Given the description of an element on the screen output the (x, y) to click on. 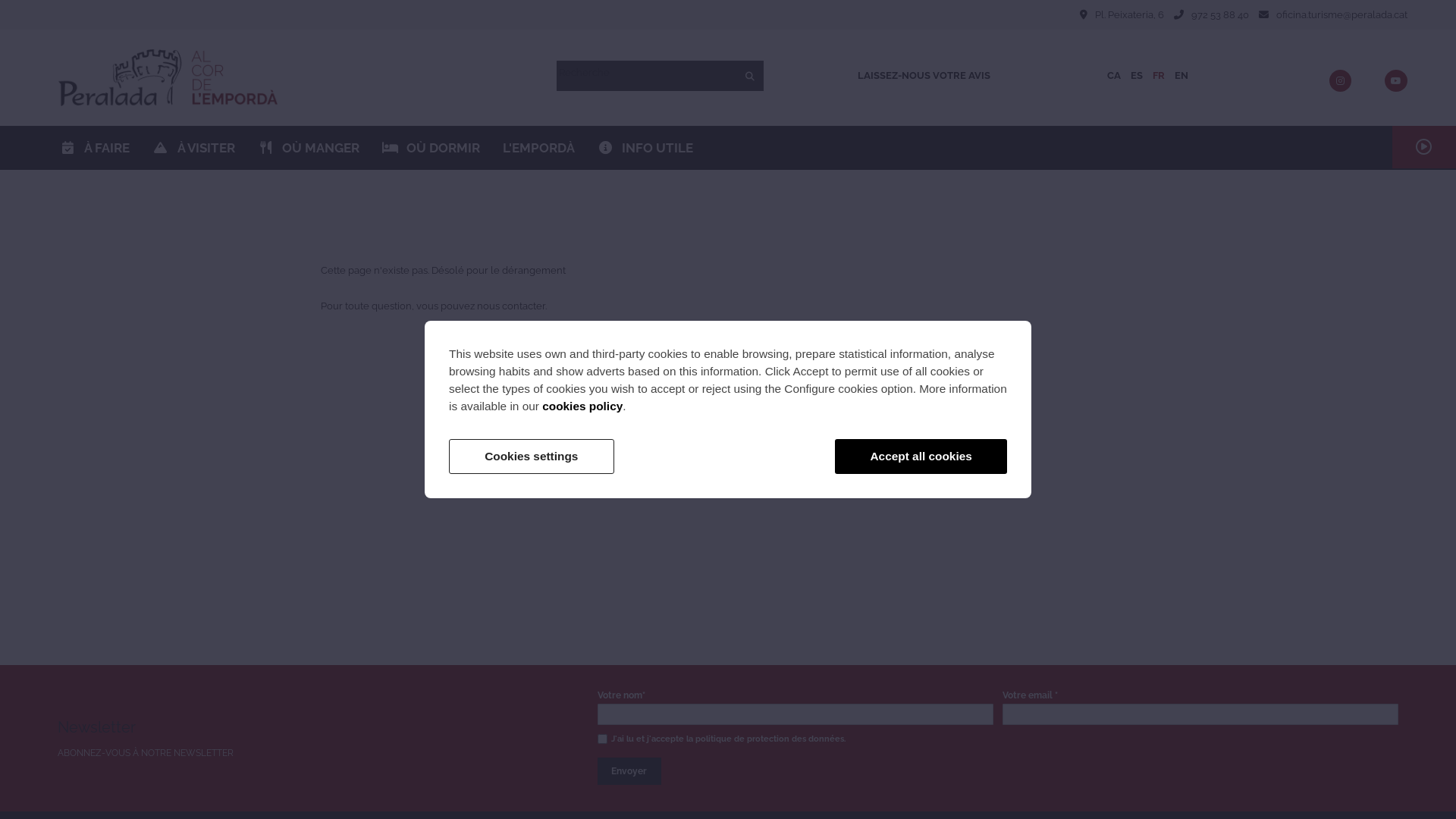
Twitter Ajuntament de Peralada Element type: text (1373, 81)
INFO UTILE Element type: text (645, 147)
LAISSEZ-NOUS VOTRE AVIS Element type: text (923, 75)
Envoyer Element type: text (629, 770)
972 53 88 40 Element type: text (1219, 14)
Ajuntament de Peralada Element type: hover (167, 77)
Accept all cookies Element type: text (920, 456)
CA Element type: text (1113, 75)
Facebook Ajuntament de Peralada Element type: text (1360, 81)
Cookies settings Element type: text (531, 456)
oficina.turisme@peralada.cat Element type: text (1341, 14)
Instagram Ajuntament de Peralada Element type: text (1340, 81)
Youtube Ajuntament de Peralada Element type: text (1395, 81)
cookies policy Element type: text (582, 405)
EN Element type: text (1181, 75)
FR Element type: text (1158, 75)
ES Element type: text (1136, 75)
